Given the description of an element on the screen output the (x, y) to click on. 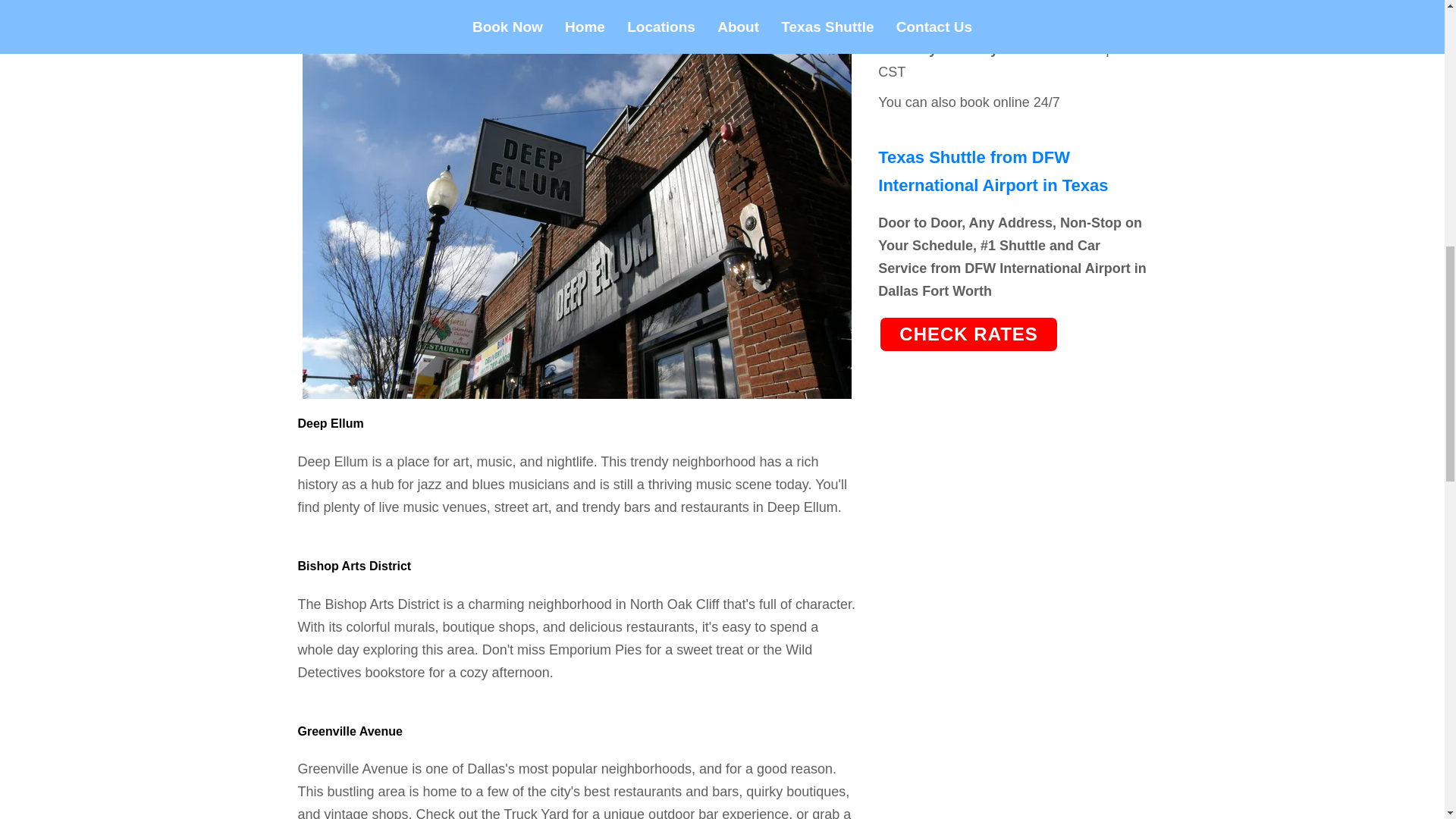
Check Airport Shuttle Rates (968, 333)
CHECK RATES (968, 333)
